Given the description of an element on the screen output the (x, y) to click on. 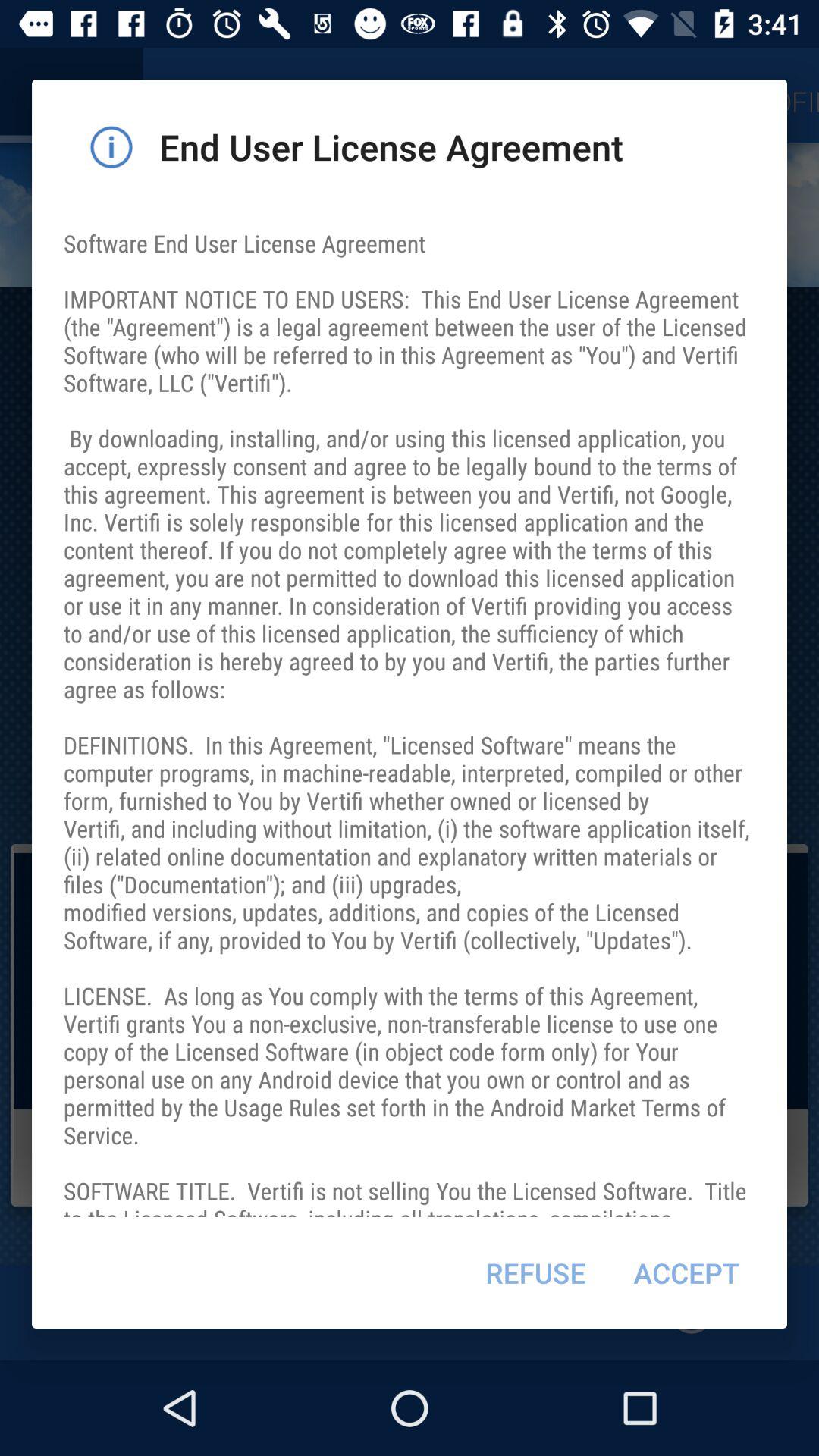
flip until refuse (535, 1272)
